Given the description of an element on the screen output the (x, y) to click on. 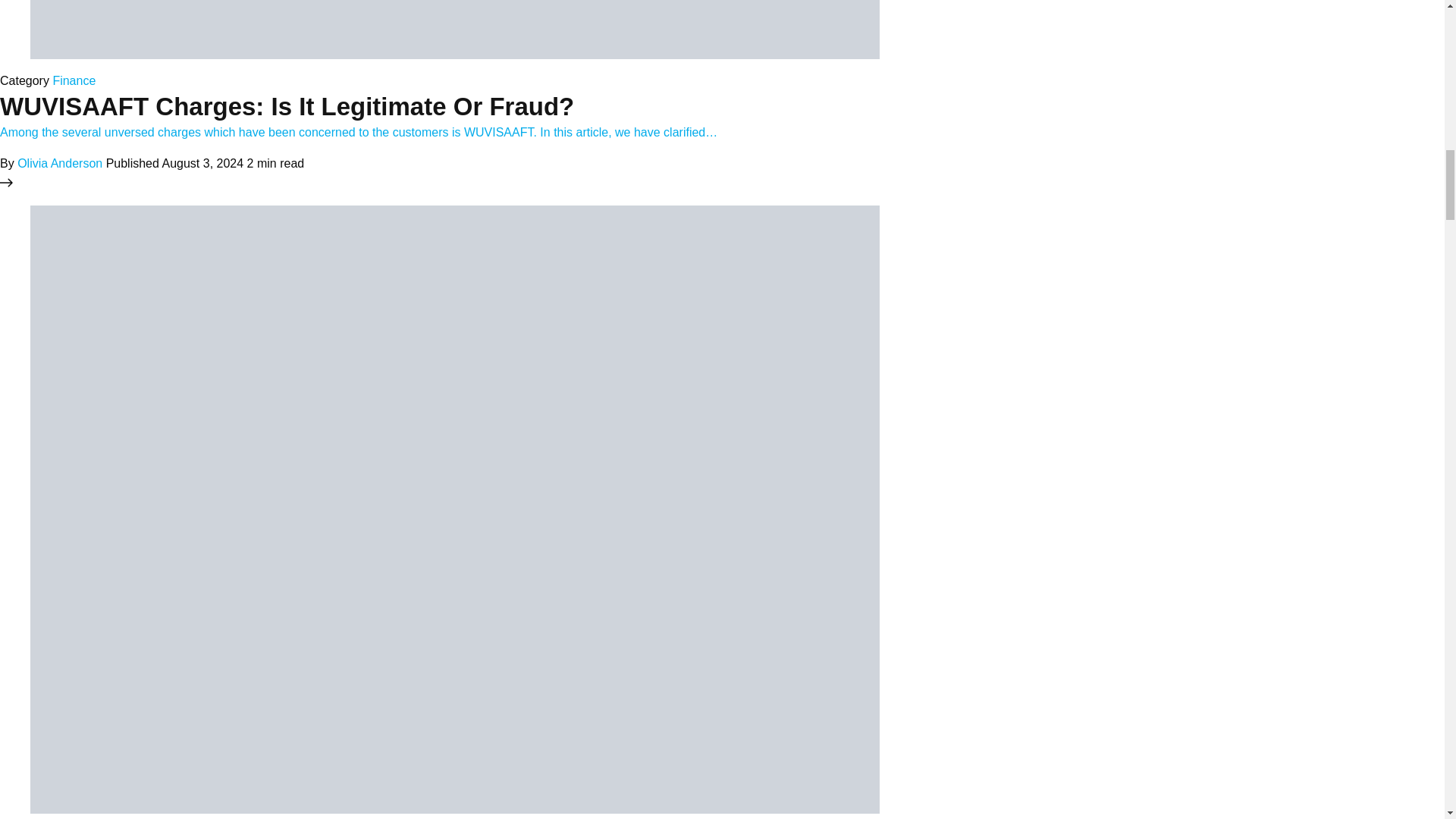
Olivia Anderson (59, 162)
Finance (74, 80)
